Given the description of an element on the screen output the (x, y) to click on. 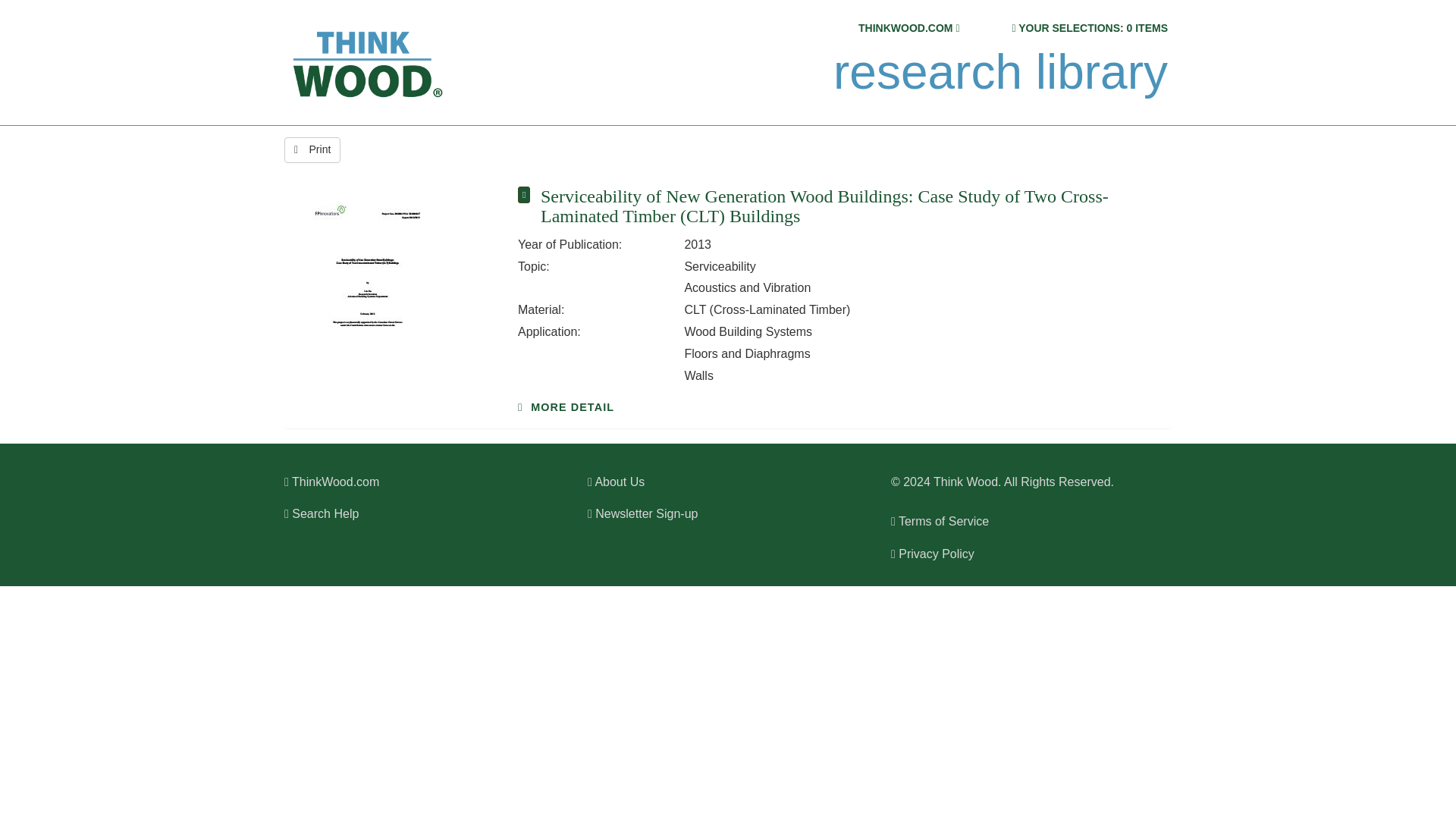
 Terms of Service (939, 521)
 Search Help (320, 513)
Toggle Full Record (849, 206)
 ThinkWood.com (330, 481)
research library (999, 72)
YOUR SELECTIONS: 0 ITEMS (1092, 28)
 Privacy Policy (932, 553)
THINKWOOD.COM (905, 28)
MORE DETAIL (566, 407)
 Newsletter Sign-up (642, 513)
